Given the description of an element on the screen output the (x, y) to click on. 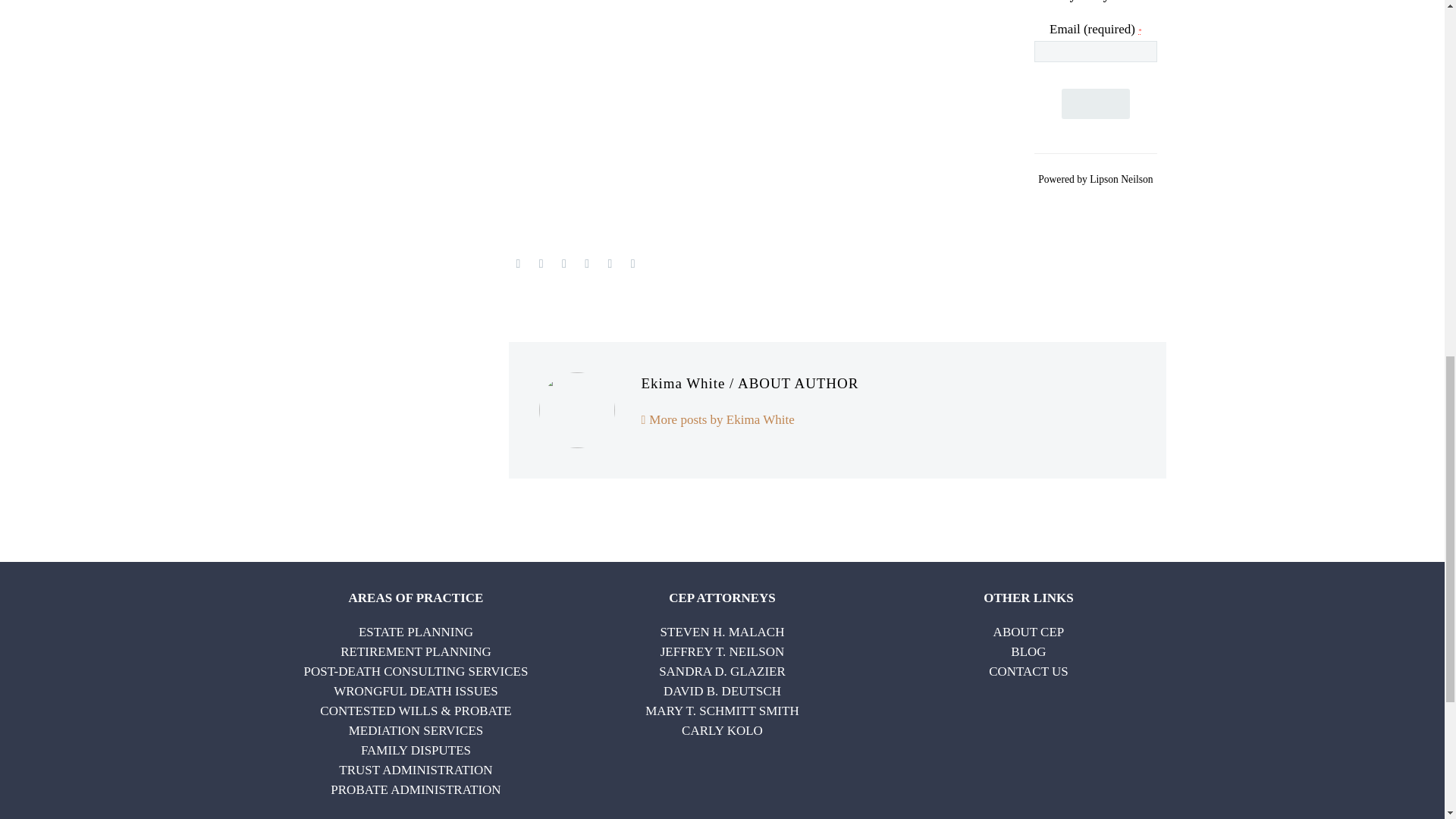
Sign up (1095, 103)
